Given the description of an element on the screen output the (x, y) to click on. 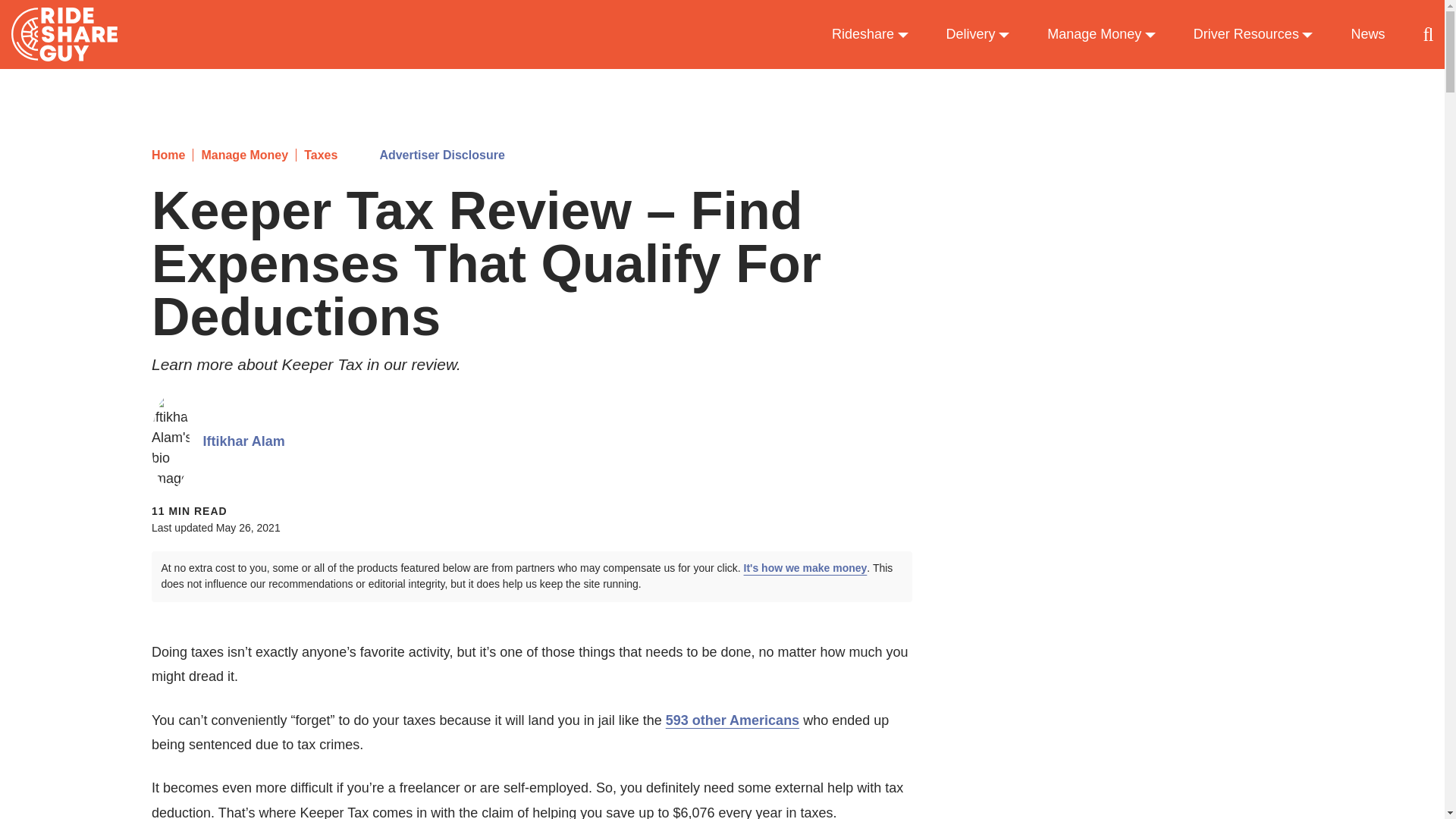
Delivery (978, 35)
Home (167, 154)
Manage Money (240, 154)
It's how we make money (805, 567)
Advertiser Disclosure (440, 154)
Taxes (316, 154)
News (1367, 35)
Rideshare (869, 35)
593 other Americans (732, 720)
Driver Resources (1253, 35)
Iftikhar Alam (244, 441)
Manage Money (1101, 35)
